Given the description of an element on the screen output the (x, y) to click on. 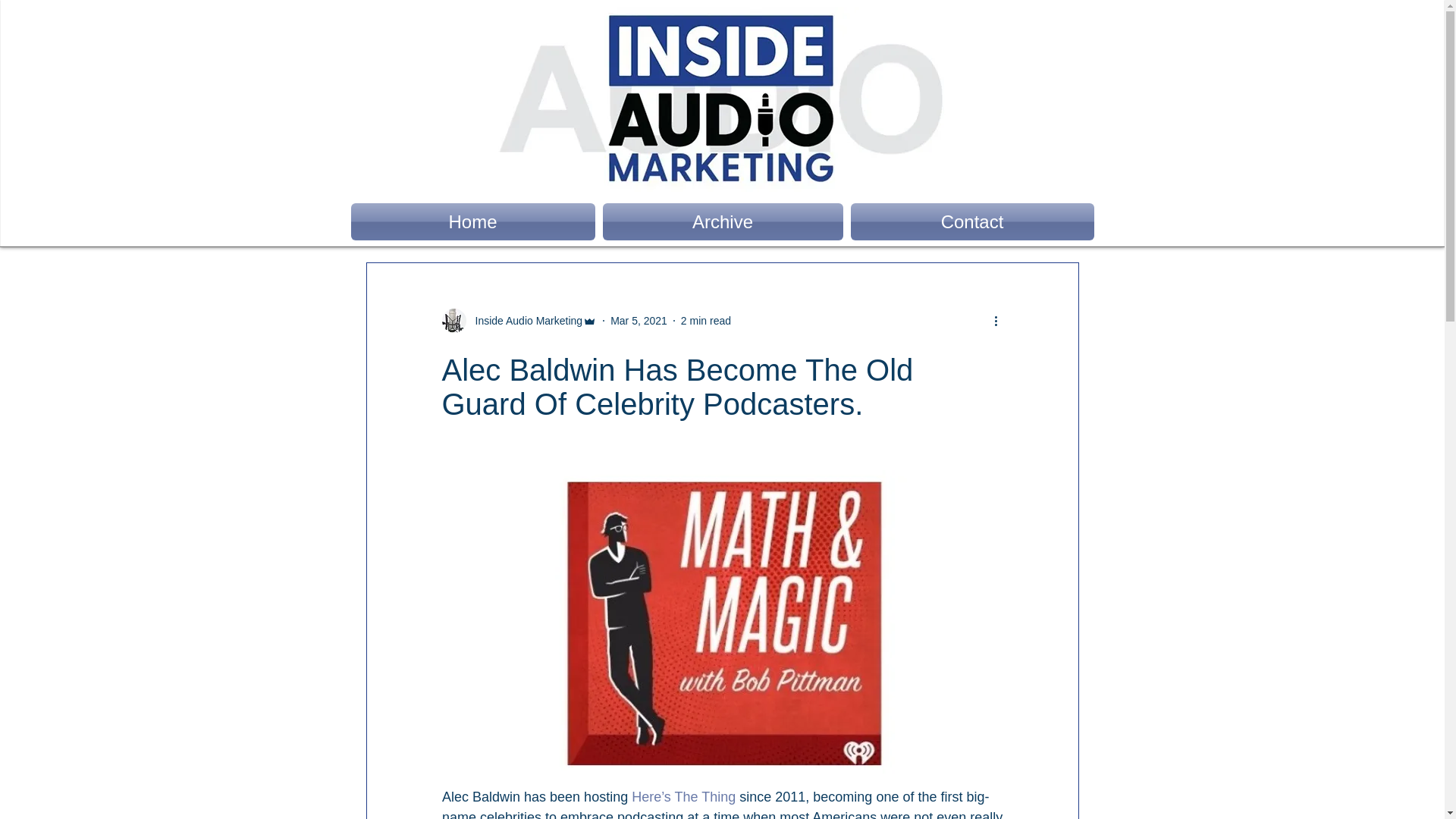
Inside Audio Marketing (523, 320)
Home (474, 221)
Mar 5, 2021 (638, 319)
Contact (969, 221)
2 min read (705, 319)
Inside Audio Marketing (518, 320)
Archive (722, 221)
